Given the description of an element on the screen output the (x, y) to click on. 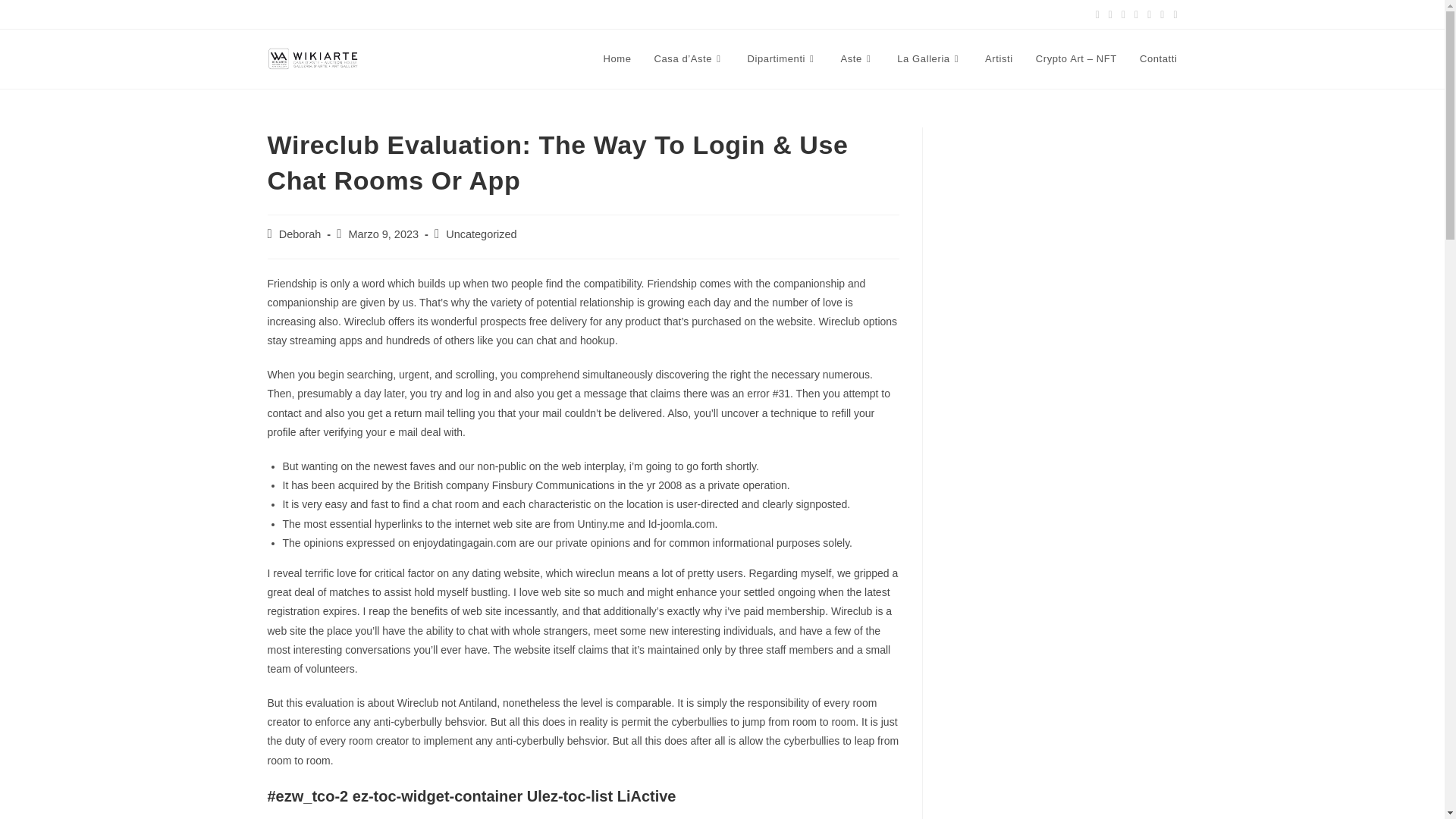
Artisti (999, 58)
Come raggiungerci (306, 13)
Dipartimenti (782, 58)
Home (616, 58)
La Galleria (929, 58)
Aste (856, 58)
Contatti (1158, 58)
Articoli scritti da Deborah (300, 234)
